Given the description of an element on the screen output the (x, y) to click on. 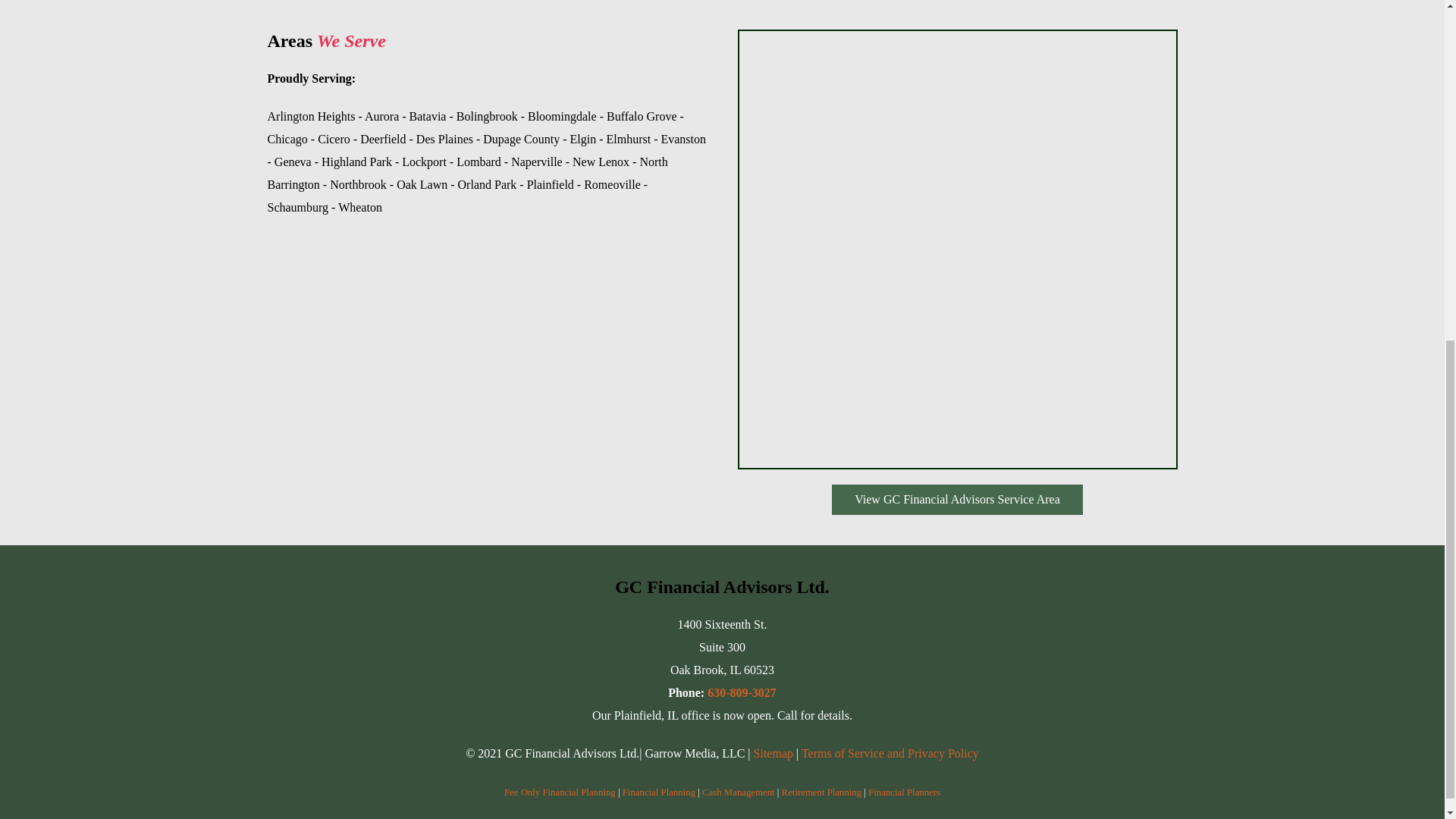
Retirement Planning (821, 792)
Financial Planning (659, 792)
View GC Financial Advisors Service Area (957, 499)
Terms of Service and Privacy Policy (890, 753)
630-809-3027 (741, 692)
Cash Management (737, 792)
Financial Planners (903, 792)
Fee Only Financial Planning (559, 792)
Sitemap (773, 753)
